Given the description of an element on the screen output the (x, y) to click on. 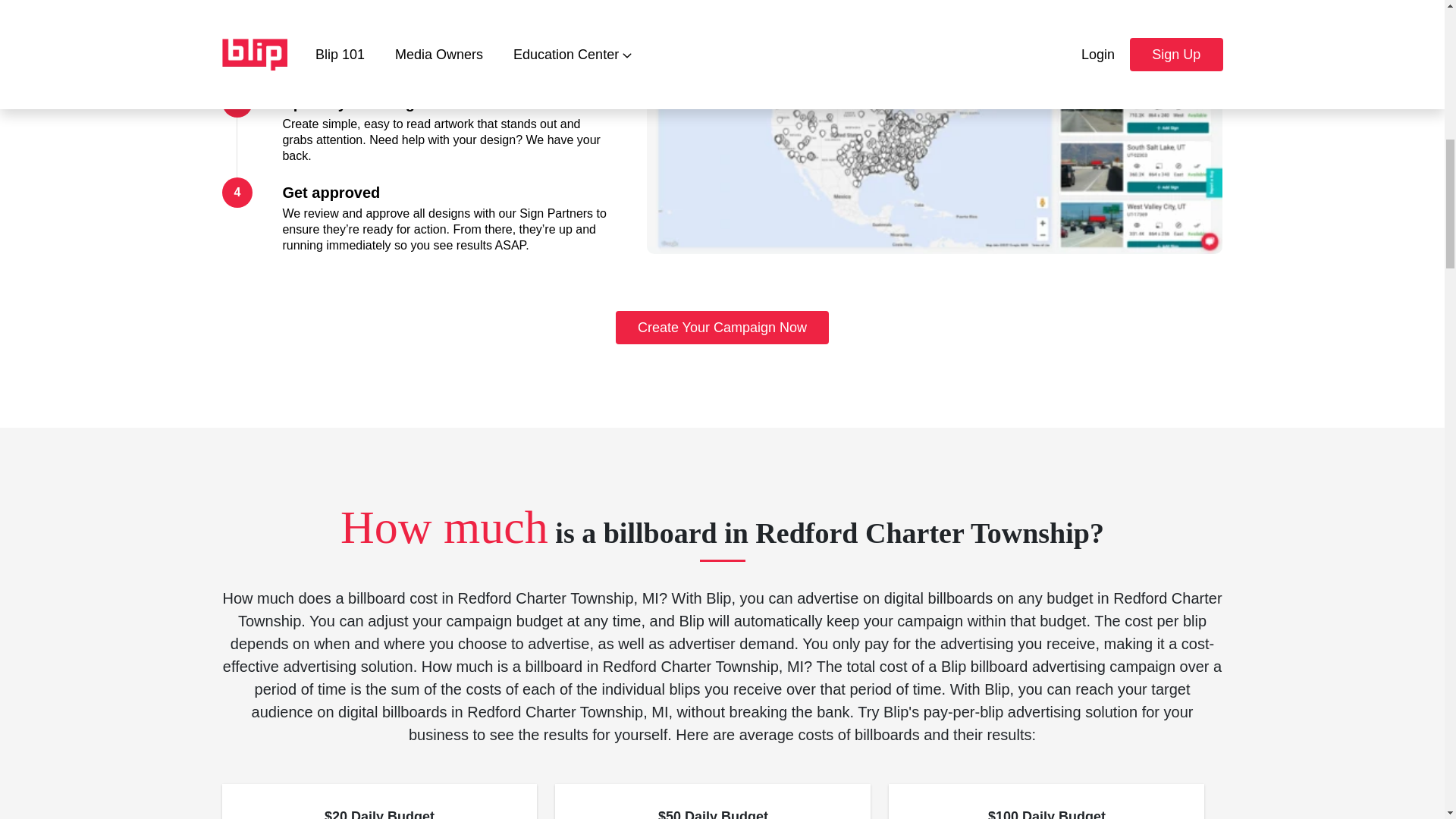
Create Your Campaign Now (722, 327)
